Given the description of an element on the screen output the (x, y) to click on. 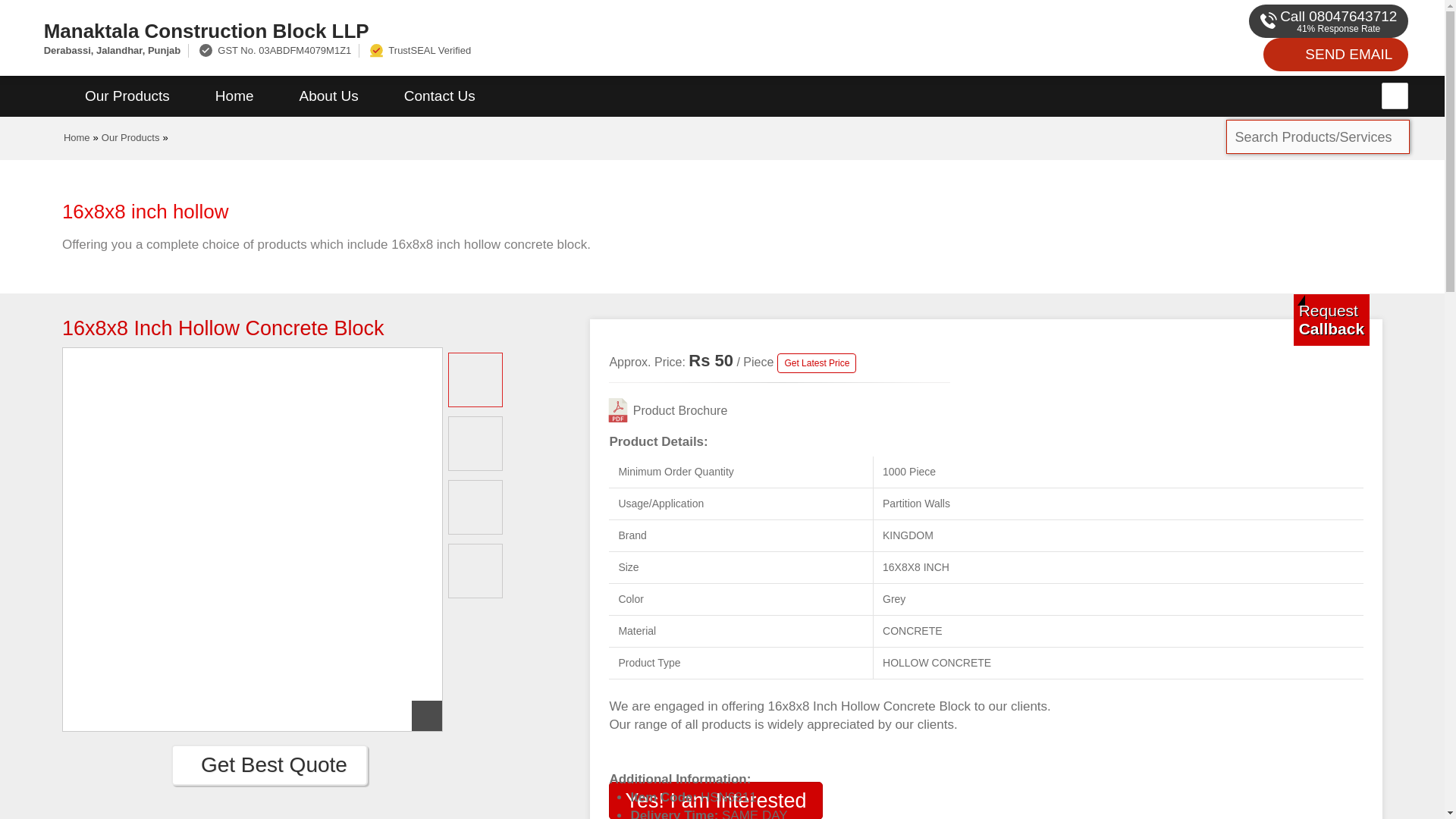
Home (234, 96)
Our Products (127, 96)
About Us (328, 96)
Home (77, 137)
Get a Call from us (1332, 319)
Manaktala Construction Block LLP (480, 31)
Contact Us (439, 96)
Our Products (130, 137)
